Given the description of an element on the screen output the (x, y) to click on. 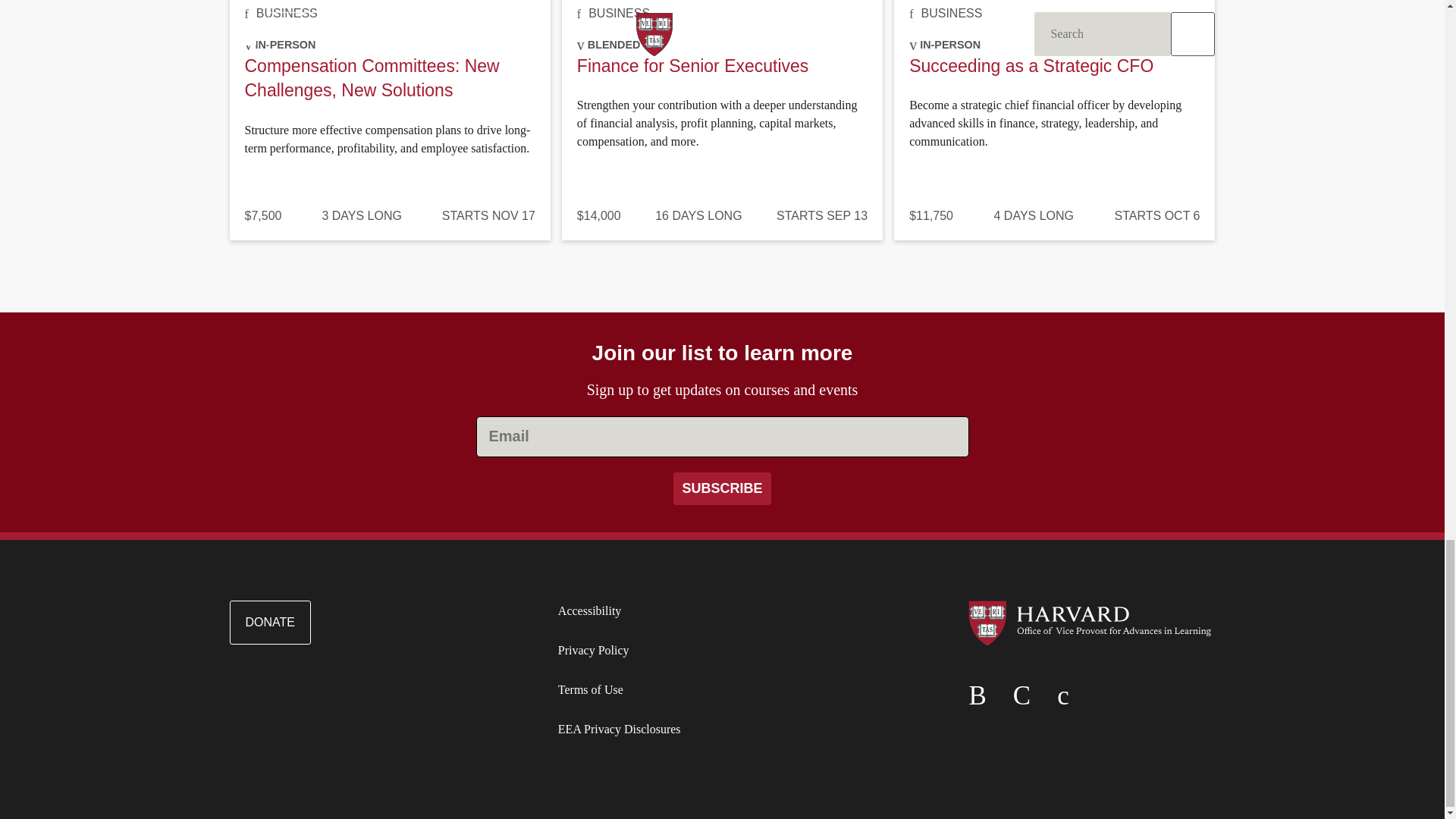
Succeeding as a Strategic CFO (1030, 66)
BUSINESS (950, 12)
Finance for Senior Executives (692, 66)
BUSINESS (286, 12)
SUBSCRIBE (721, 488)
BUSINESS (618, 12)
Compensation Committees: New Challenges, New Solutions (371, 77)
